Given the description of an element on the screen output the (x, y) to click on. 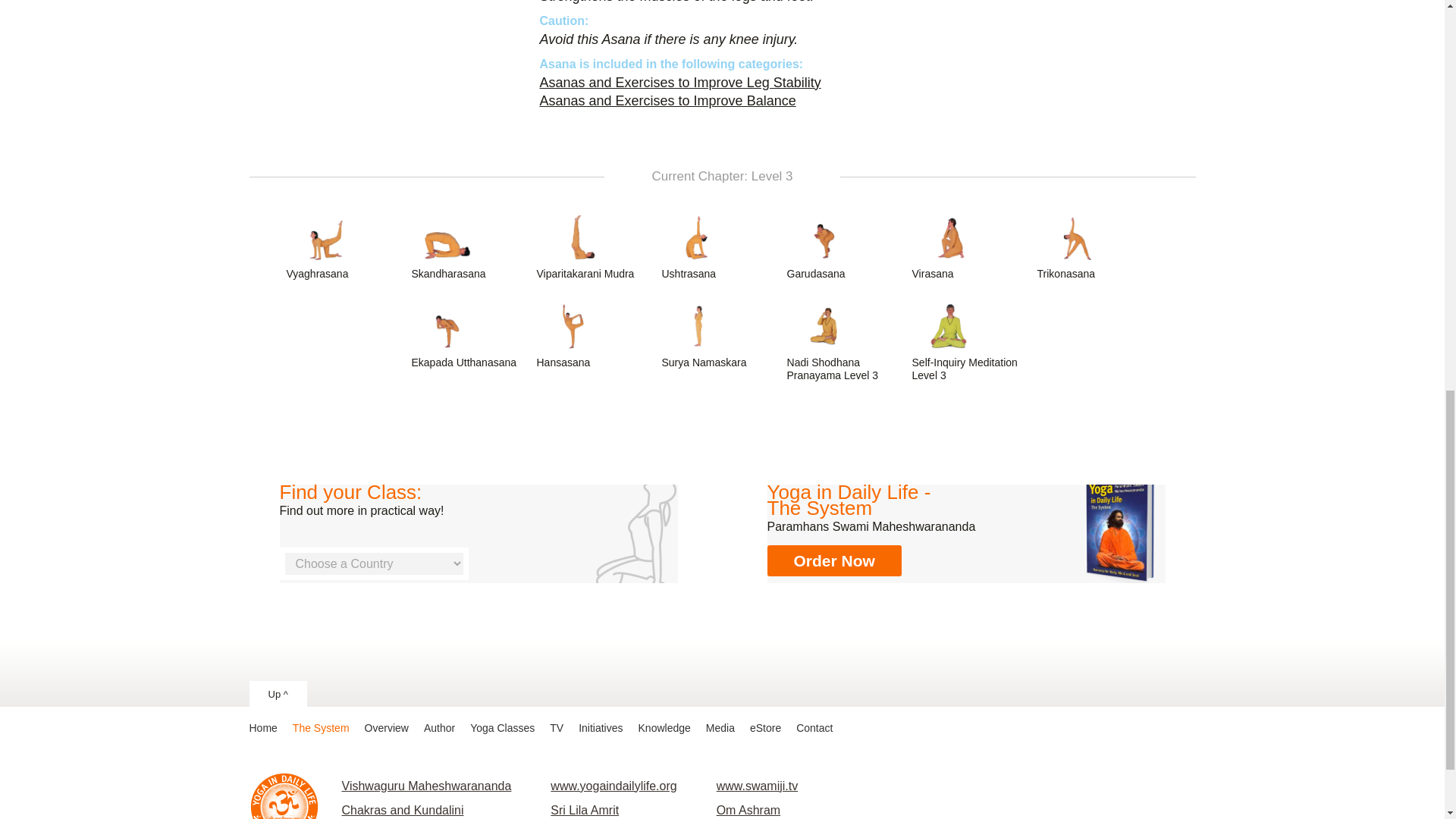
Hansasana (594, 335)
Trikonasana (1095, 246)
Asanas and Exercises to Improve Leg Stability (680, 81)
Self-Inquiry Meditation Level 3 (970, 342)
Skandharasana (469, 246)
Ushtrasana (719, 246)
Viparitakarani Mudra (594, 246)
Asanas and Exercises to Improve Leg Stability (680, 81)
Nadi Shodhana Pranayama Level 3 (845, 342)
Virasana (970, 246)
Garudasana (845, 246)
Vyaghrasana (344, 246)
Garudasana (845, 246)
Asanas and Exercises to Improve Balance (668, 99)
Skandharasana (469, 246)
